Given the description of an element on the screen output the (x, y) to click on. 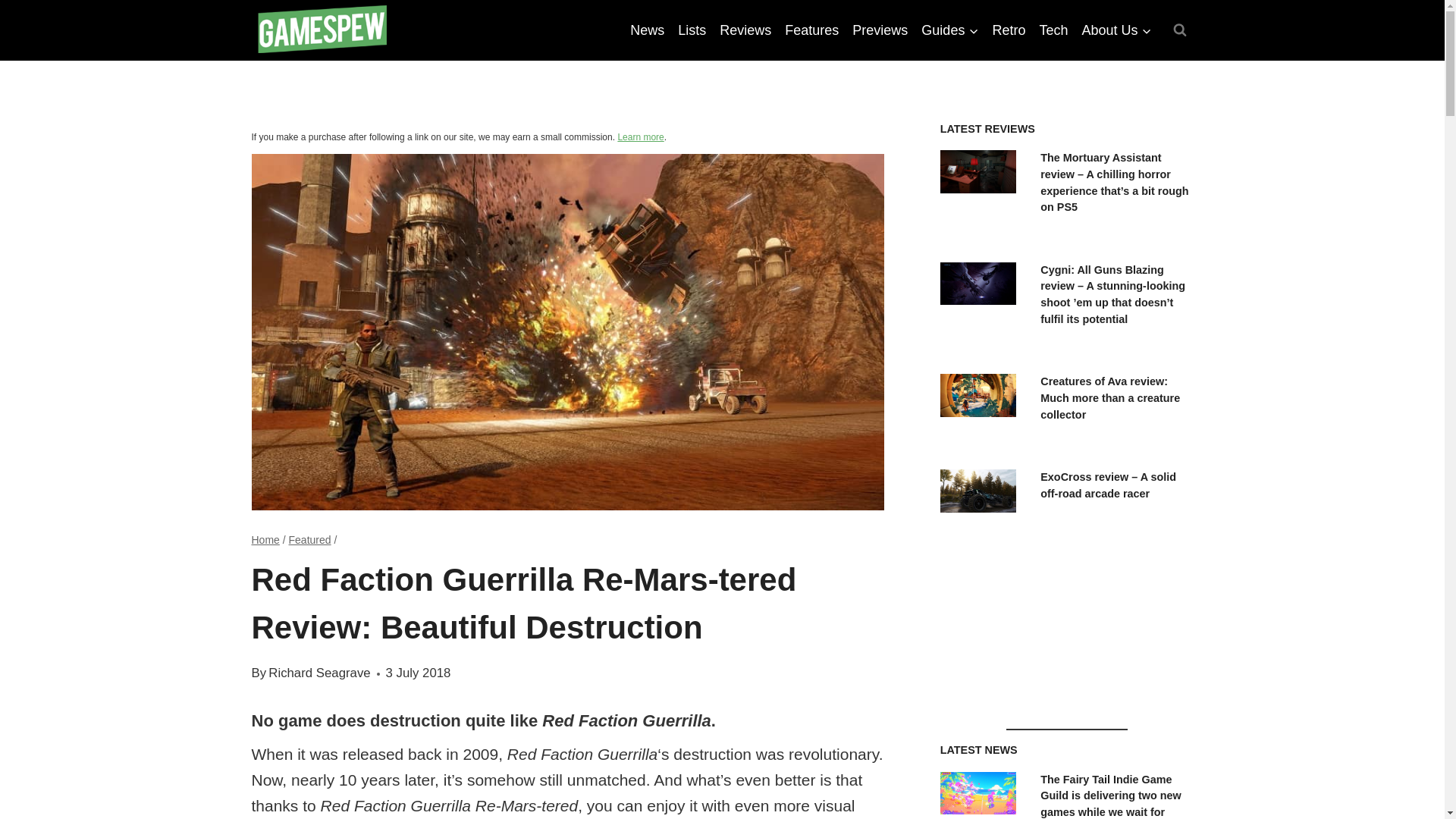
About Us (1115, 30)
Guides (949, 30)
Previews (879, 30)
Retro (1008, 30)
Learn more (640, 136)
Lists (692, 30)
Home (265, 539)
Features (811, 30)
Featured (309, 539)
Reviews (745, 30)
Richard Seagrave (318, 672)
News (647, 30)
Tech (1053, 30)
